Given the description of an element on the screen output the (x, y) to click on. 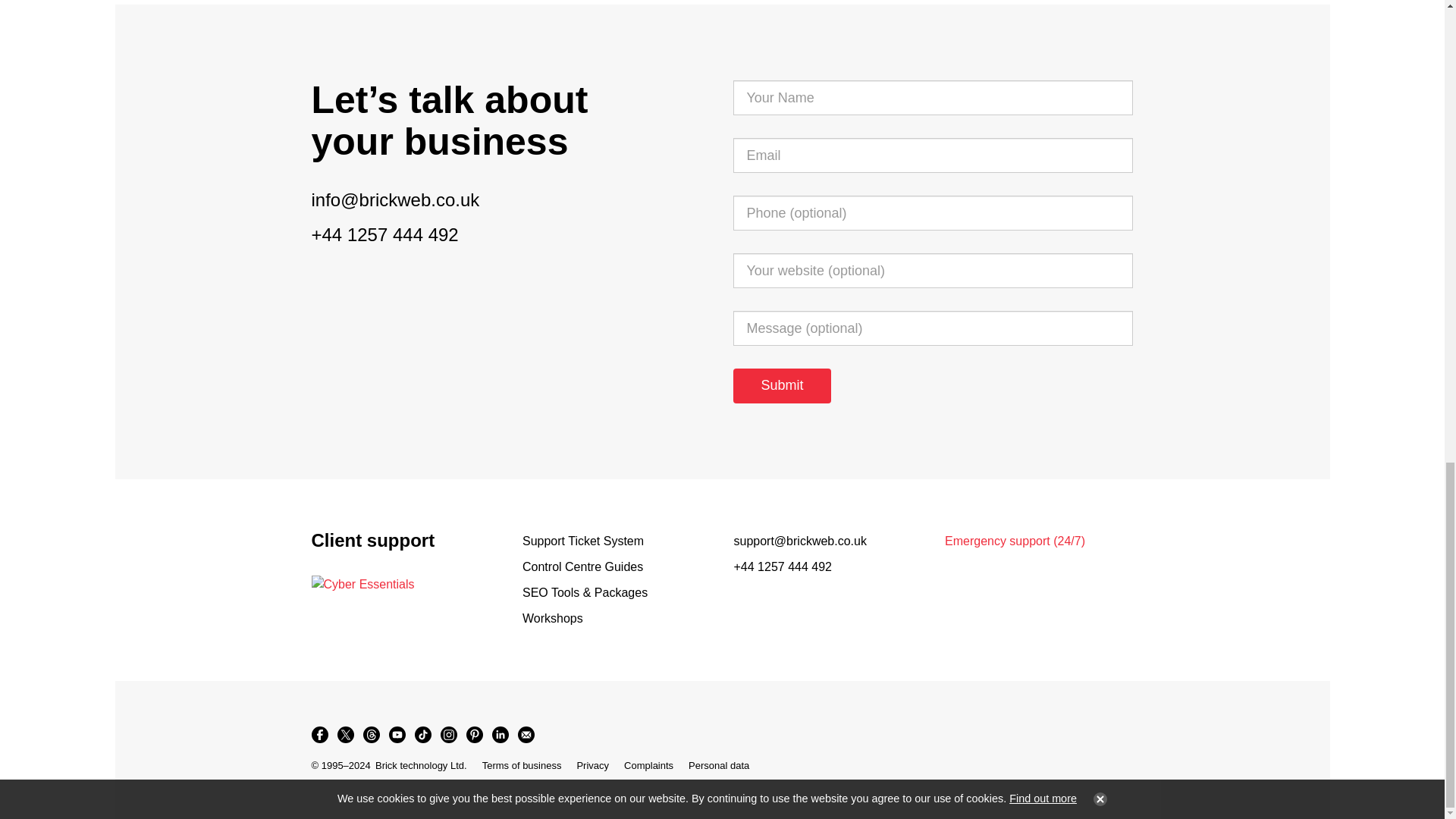
X (344, 734)
Facebook (318, 734)
Submit (781, 385)
YouTube (396, 734)
TikTok (422, 734)
LinkedIn (499, 734)
Newsletter (525, 734)
Instagram (448, 734)
Pinterest (473, 734)
Submit (781, 385)
Threads (371, 734)
Get a copy of your personal data or Erase my personal data (718, 765)
